Given the description of an element on the screen output the (x, y) to click on. 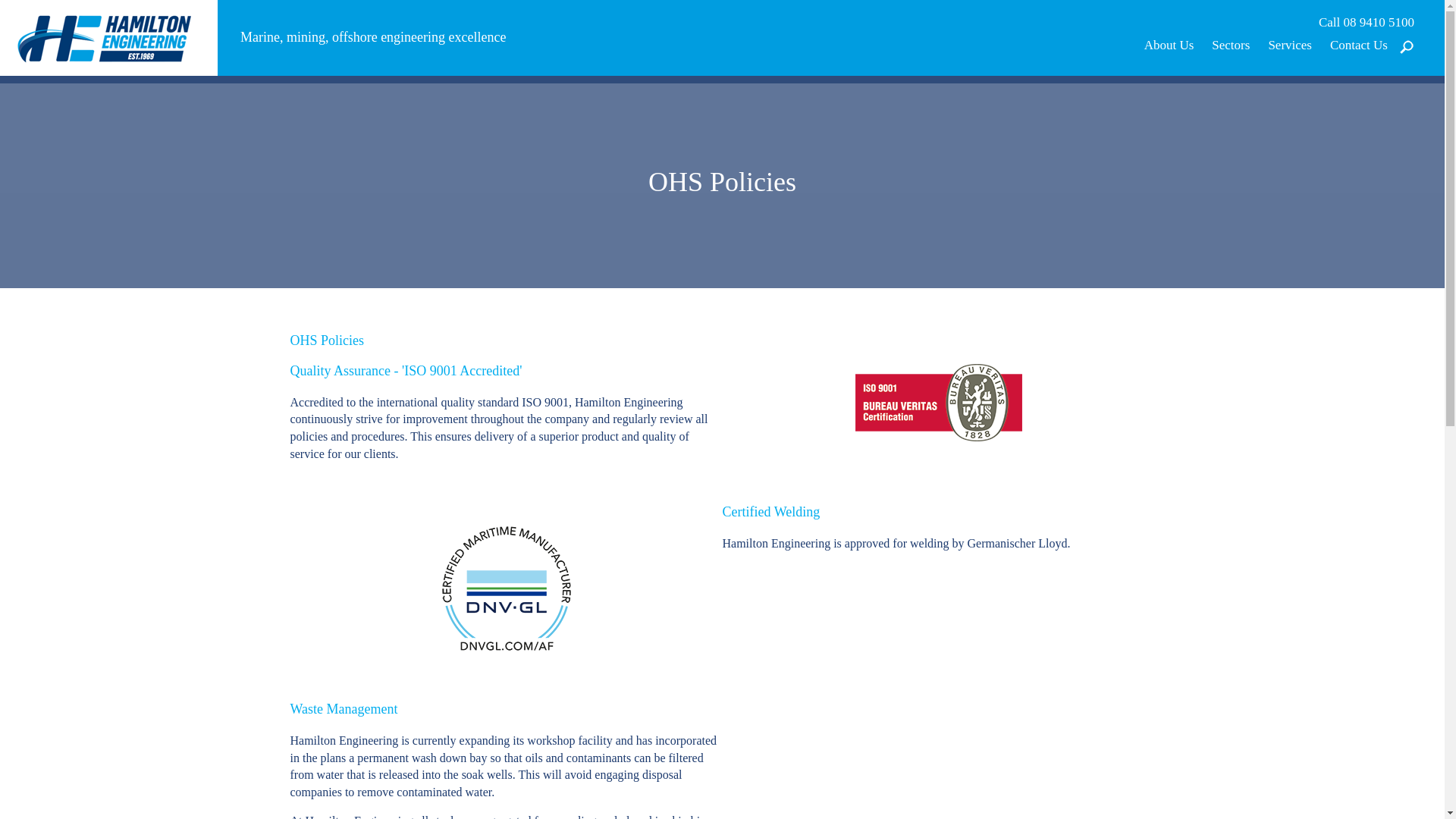
Search Element type: text (1374, 116)
Sectors Element type: text (1230, 44)
Hamilton Engineering Element type: hover (108, 36)
About Us Element type: text (1169, 44)
Services Element type: text (1289, 44)
Contact Us Element type: text (1358, 44)
Call 08 9410 5100 Element type: text (1366, 22)
